Given the description of an element on the screen output the (x, y) to click on. 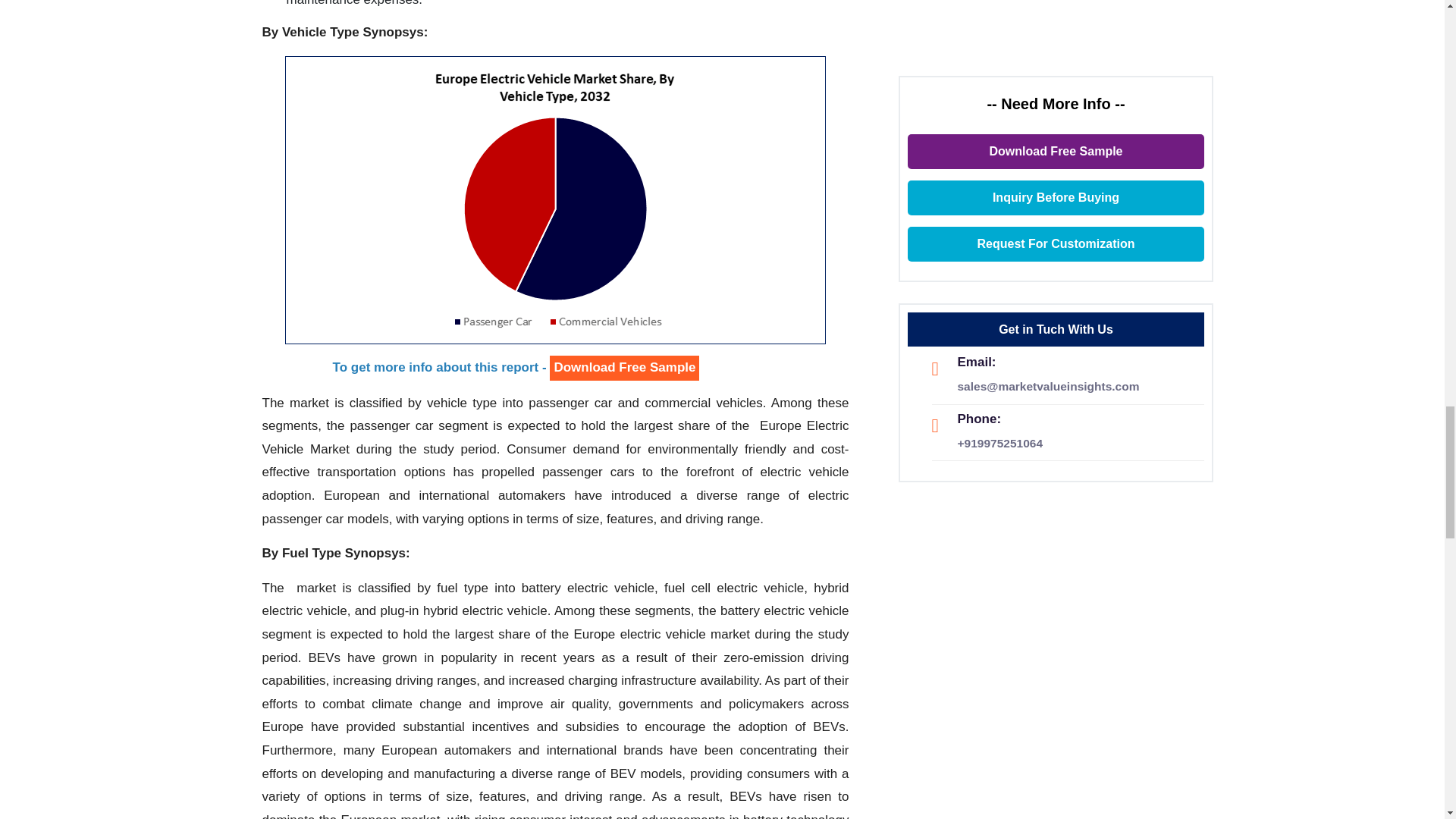
Download Free Sample (624, 367)
